Given the description of an element on the screen output the (x, y) to click on. 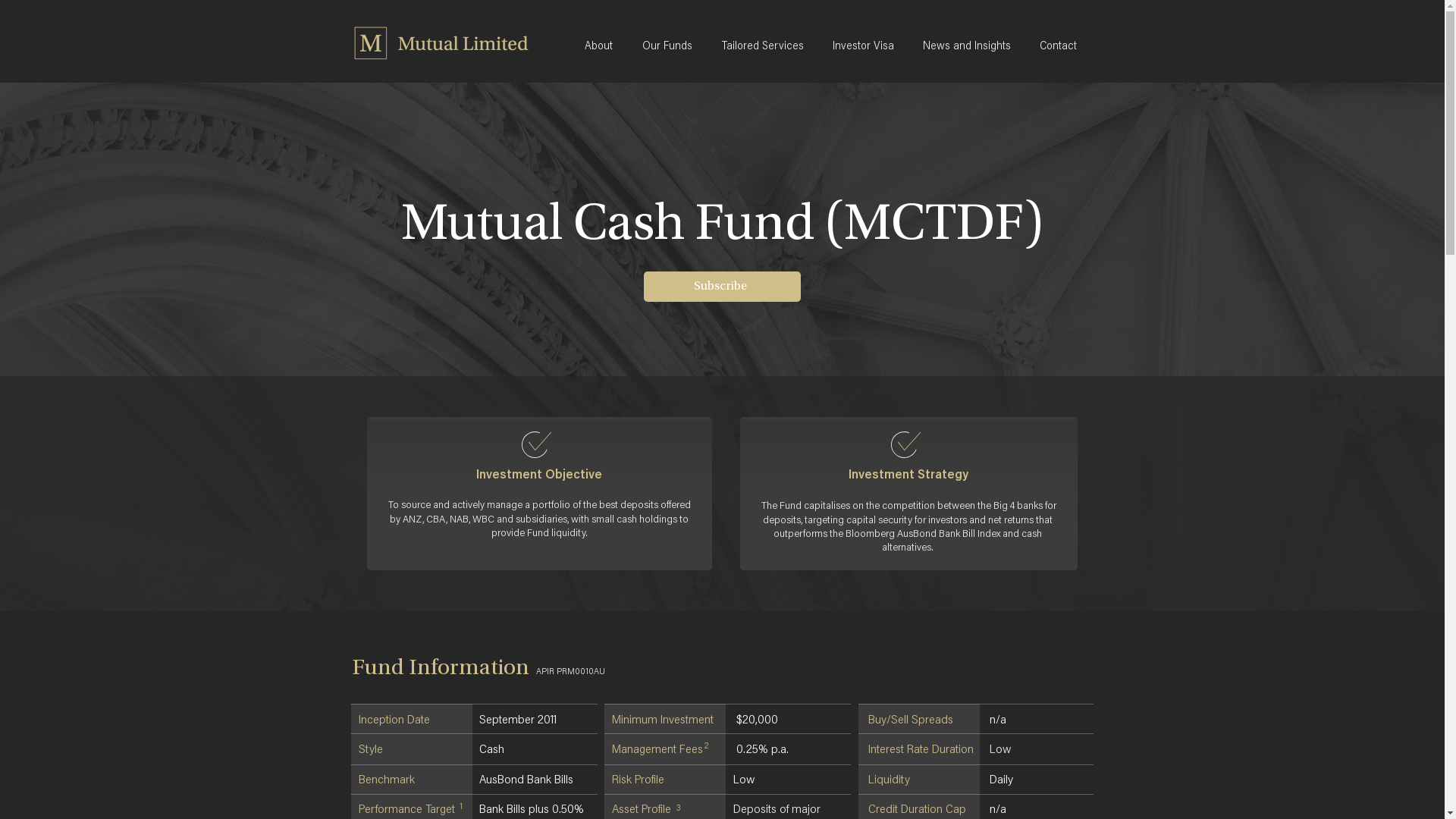
Investor Visa Element type: text (865, 45)
Contact Element type: text (1061, 45)
News and Insights Element type: text (969, 45)
Subscribe Element type: text (721, 286)
Tailored Services Element type: text (764, 45)
